Given the description of an element on the screen output the (x, y) to click on. 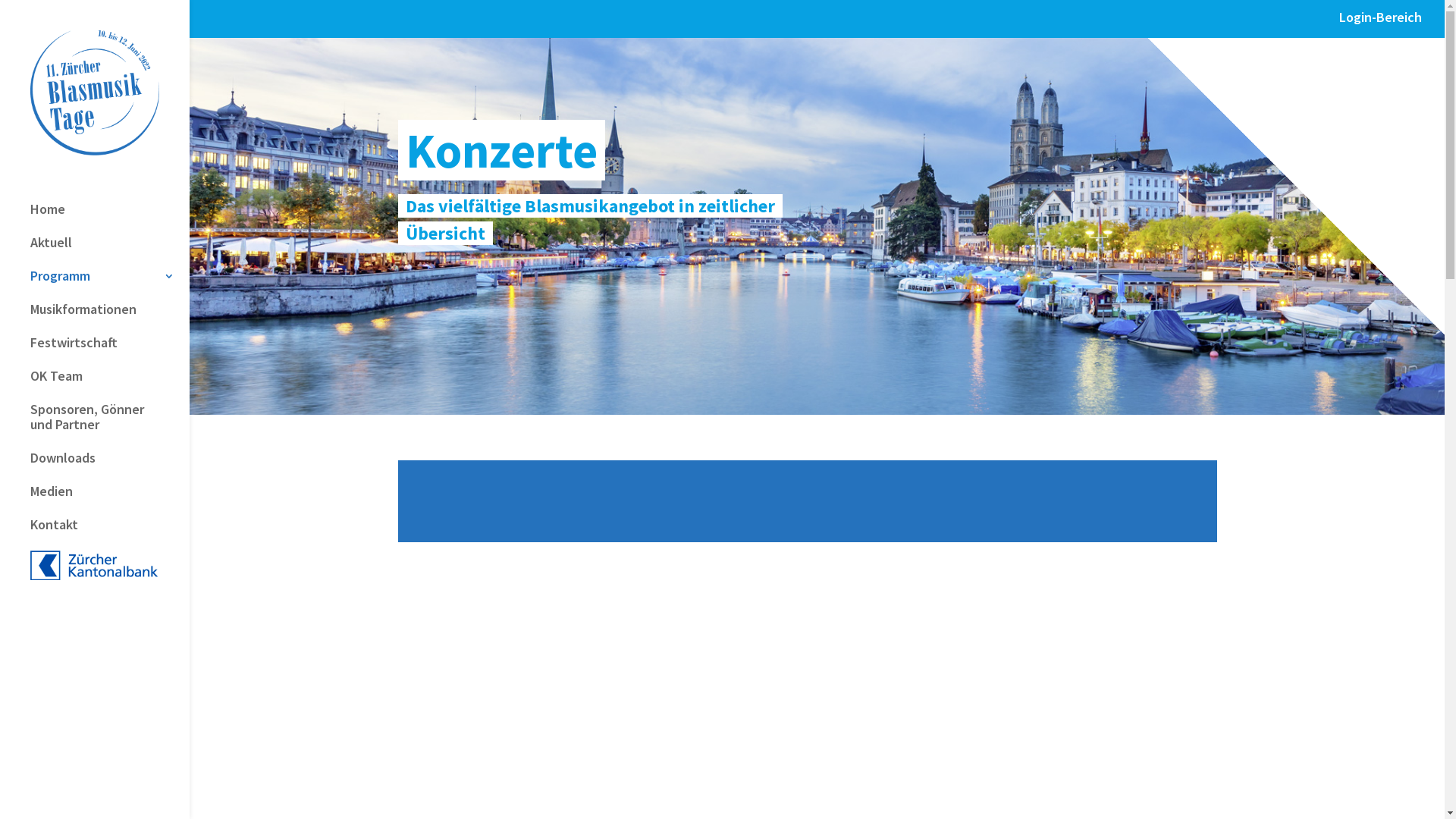
Aktuell Element type: text (109, 249)
Home Element type: text (109, 216)
OK Team Element type: text (109, 383)
Festwirtschaft Element type: text (109, 349)
Musikformationen Element type: text (109, 316)
Kontakt Element type: text (109, 531)
Medien Element type: text (109, 498)
Login-Bereich Element type: text (1380, 22)
Downloads Element type: text (109, 465)
Programm Element type: text (109, 283)
